Given the description of an element on the screen output the (x, y) to click on. 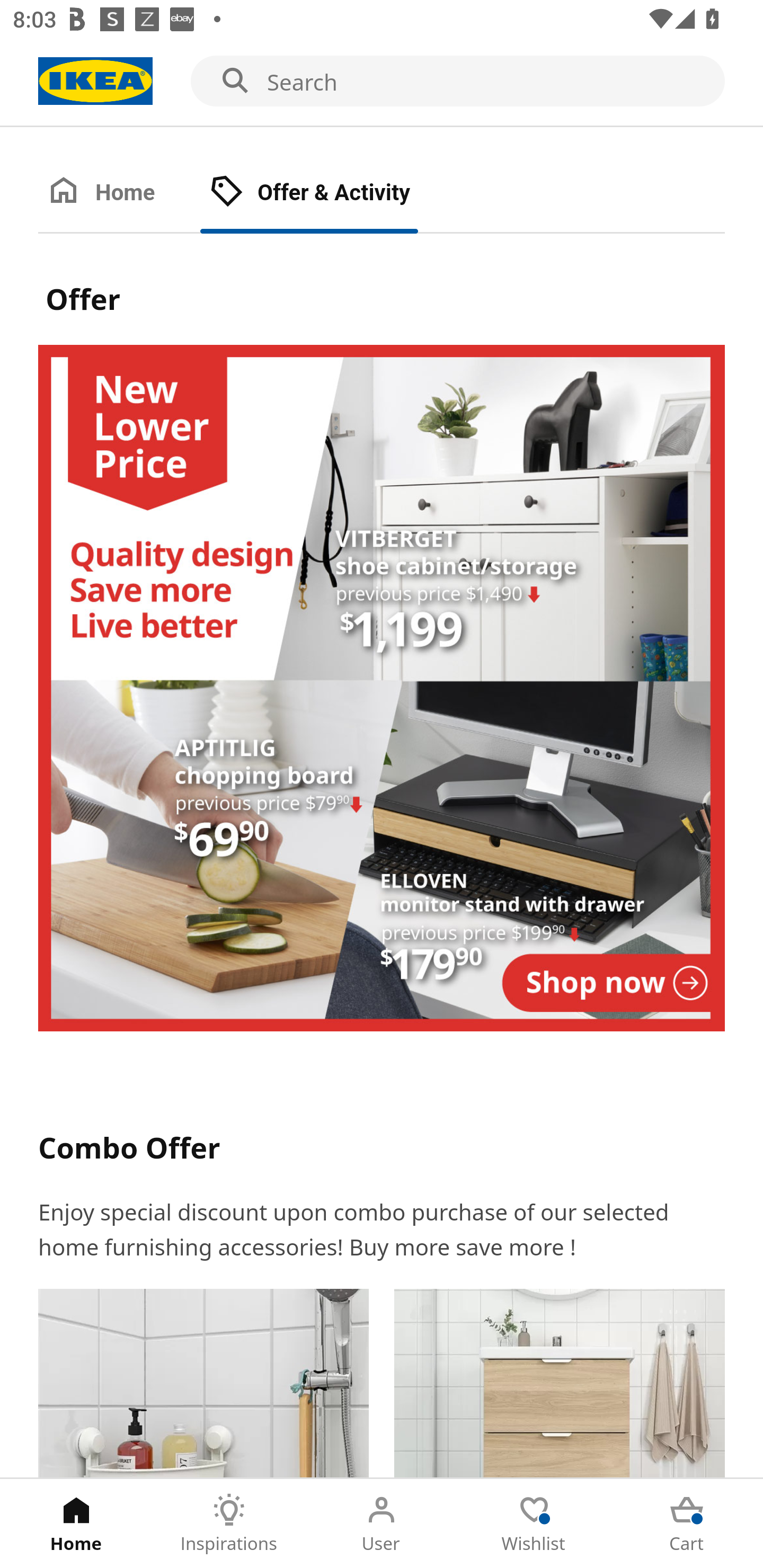
Search (381, 81)
Home
Tab 1 of 2 (118, 192)
Offer & Activity
Tab 2 of 2 (327, 192)
Home
Tab 1 of 5 (76, 1522)
Inspirations
Tab 2 of 5 (228, 1522)
User
Tab 3 of 5 (381, 1522)
Wishlist
Tab 4 of 5 (533, 1522)
Cart
Tab 5 of 5 (686, 1522)
